Given the description of an element on the screen output the (x, y) to click on. 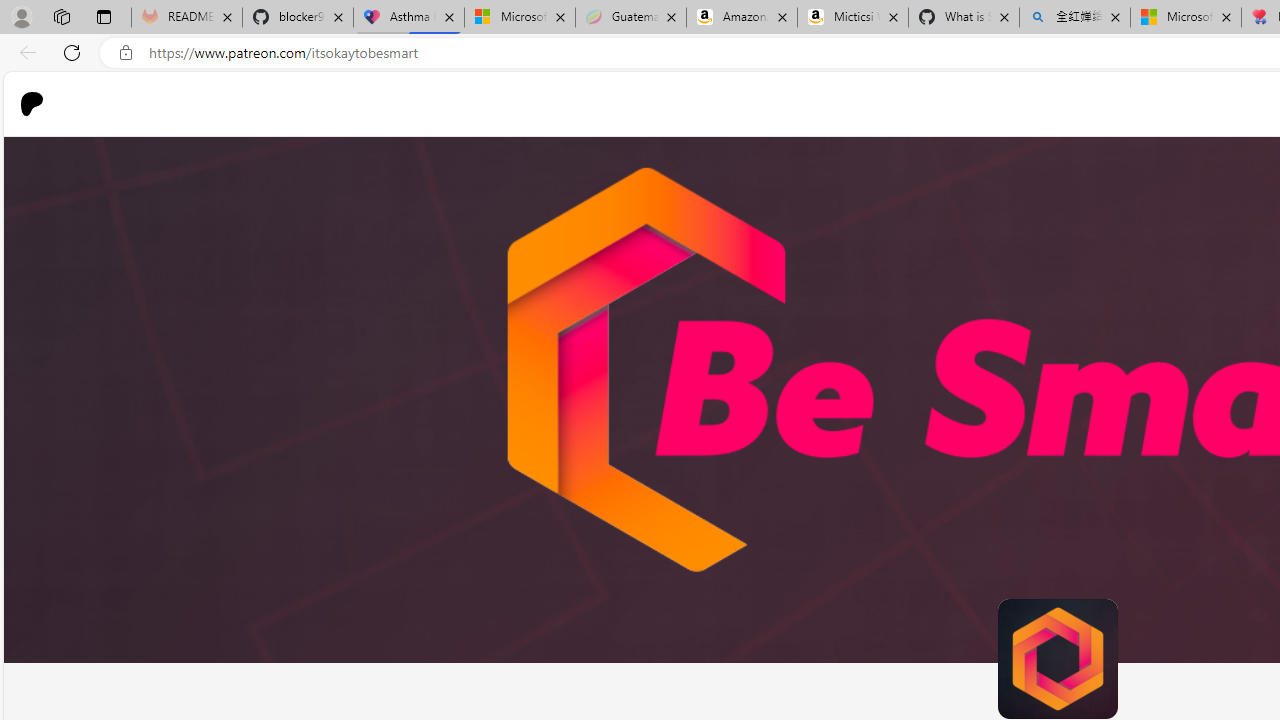
Patreon logo (31, 103)
Go to home page (40, 103)
